Given the description of an element on the screen output the (x, y) to click on. 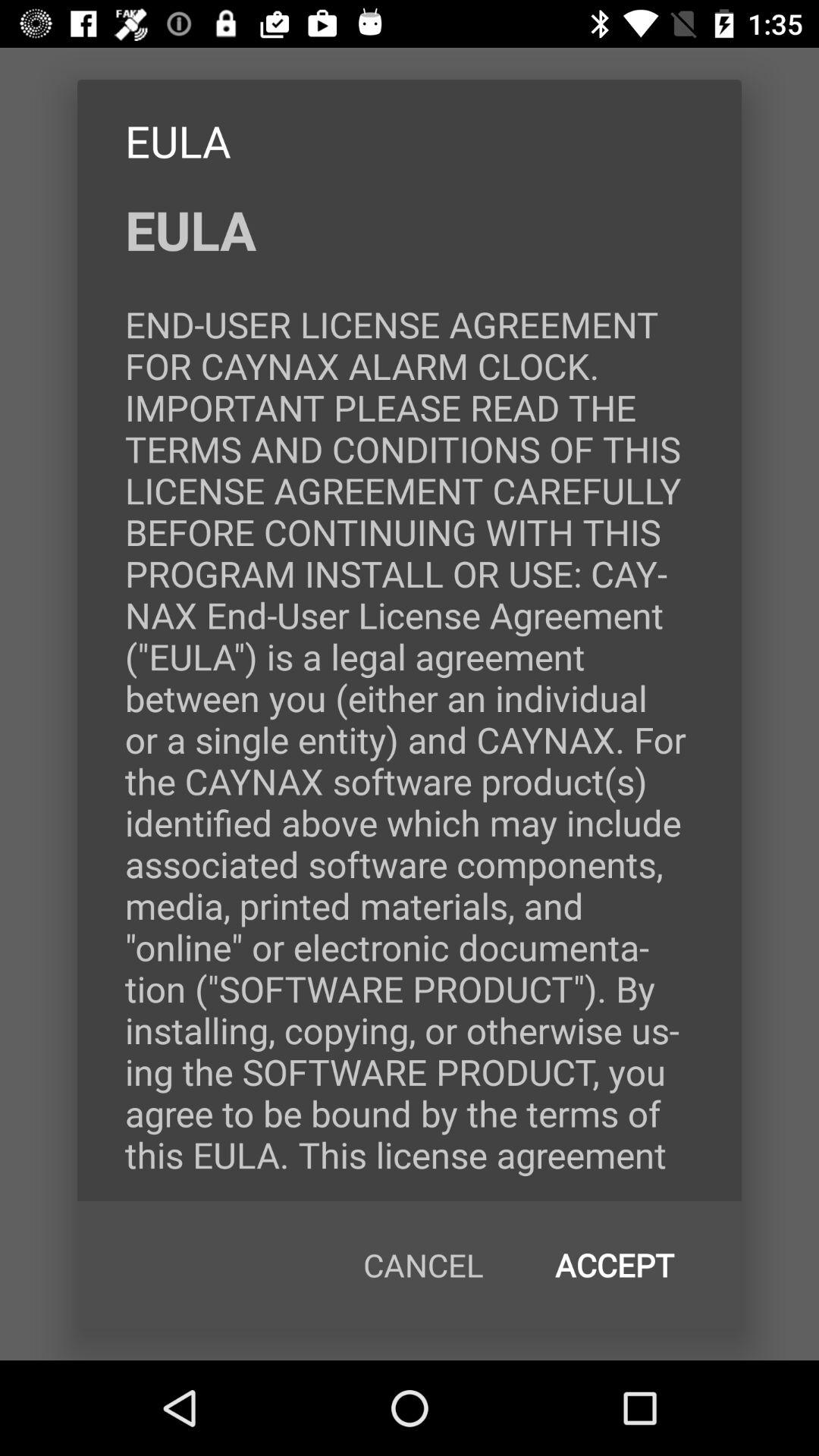
turn on icon below eula end user icon (422, 1264)
